Given the description of an element on the screen output the (x, y) to click on. 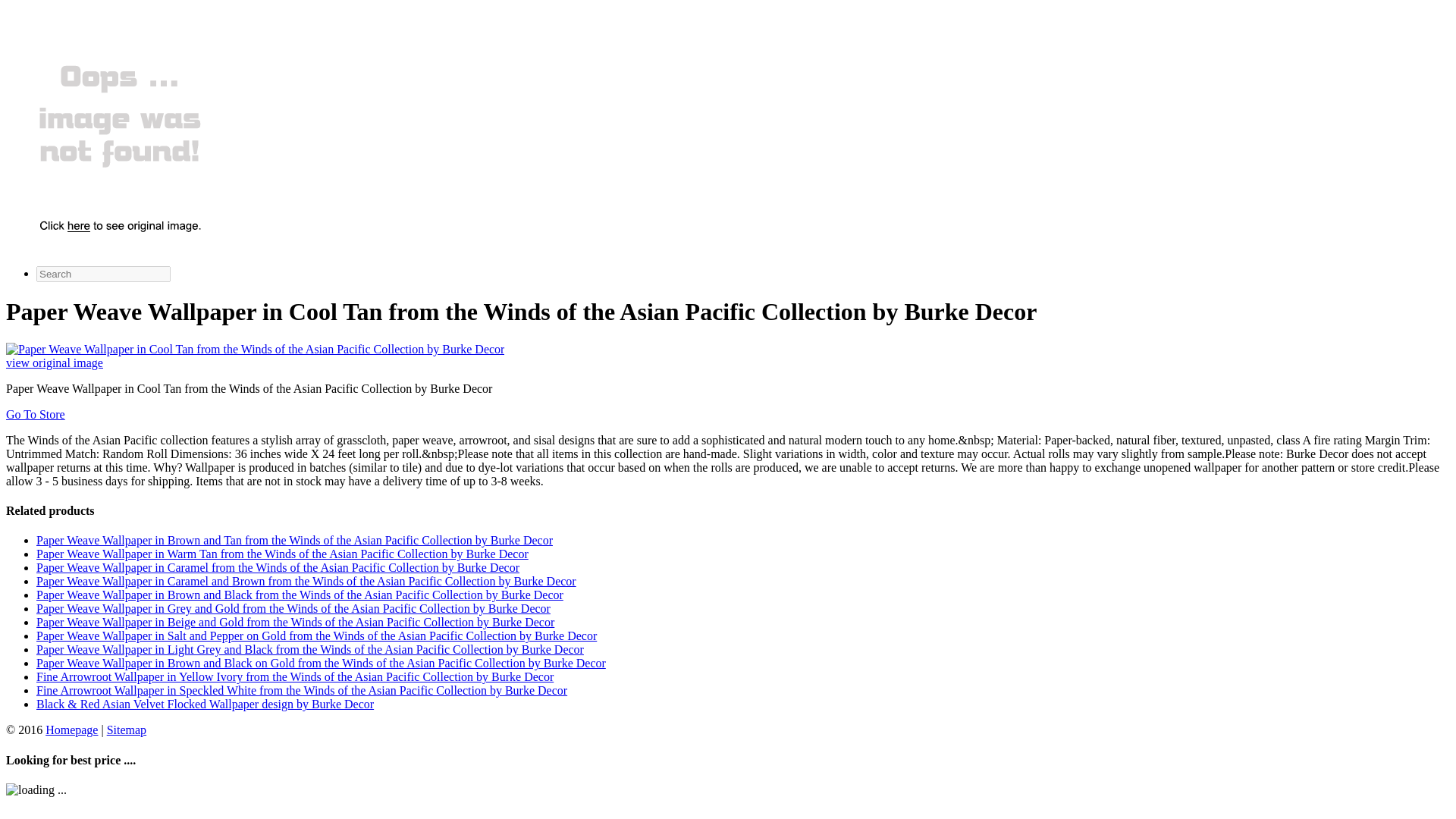
view original image (54, 362)
Go To Store (35, 413)
Sitemap (126, 729)
Homepage (71, 729)
